Given the description of an element on the screen output the (x, y) to click on. 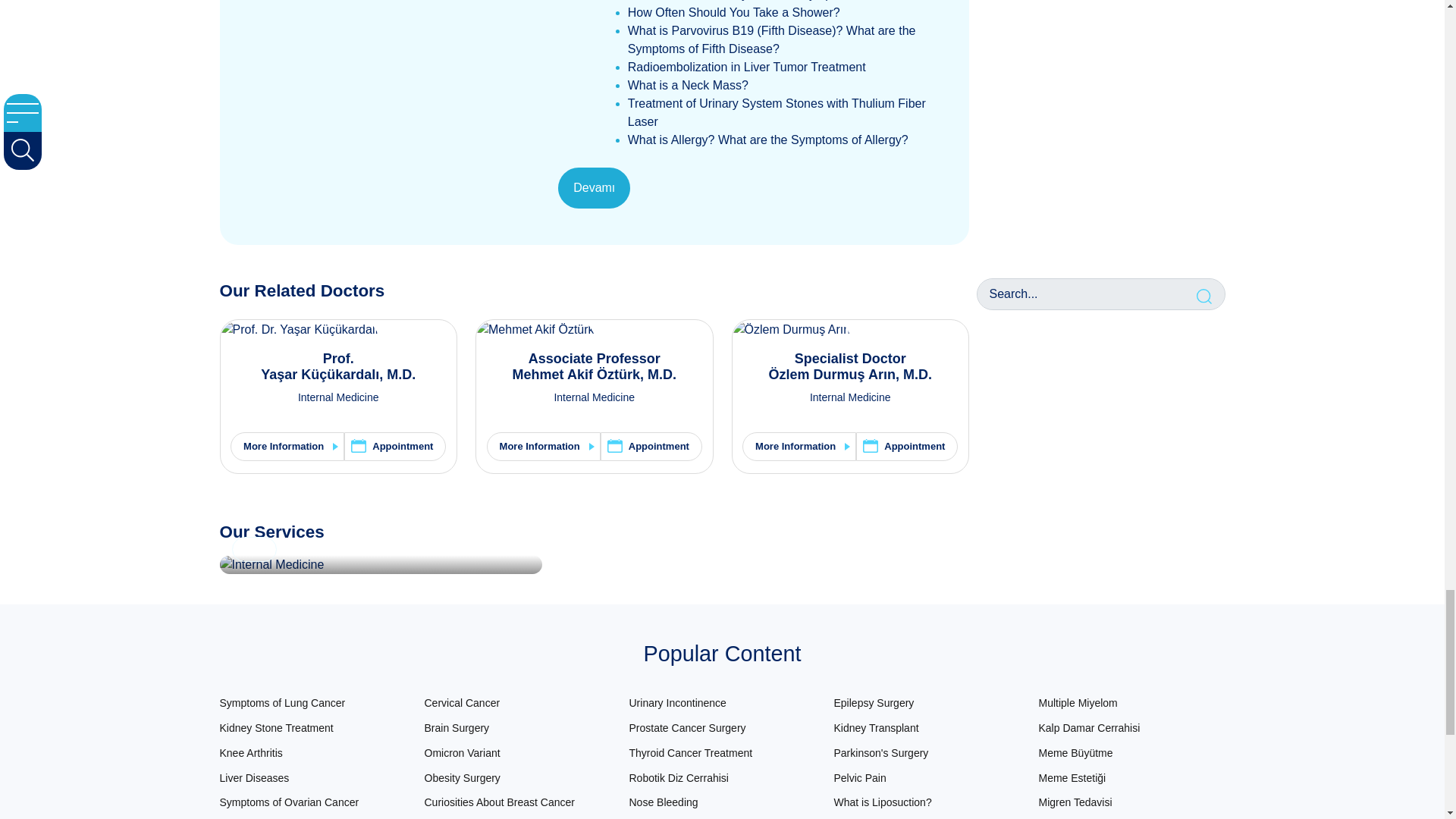
Arama  (1205, 294)
